Given the description of an element on the screen output the (x, y) to click on. 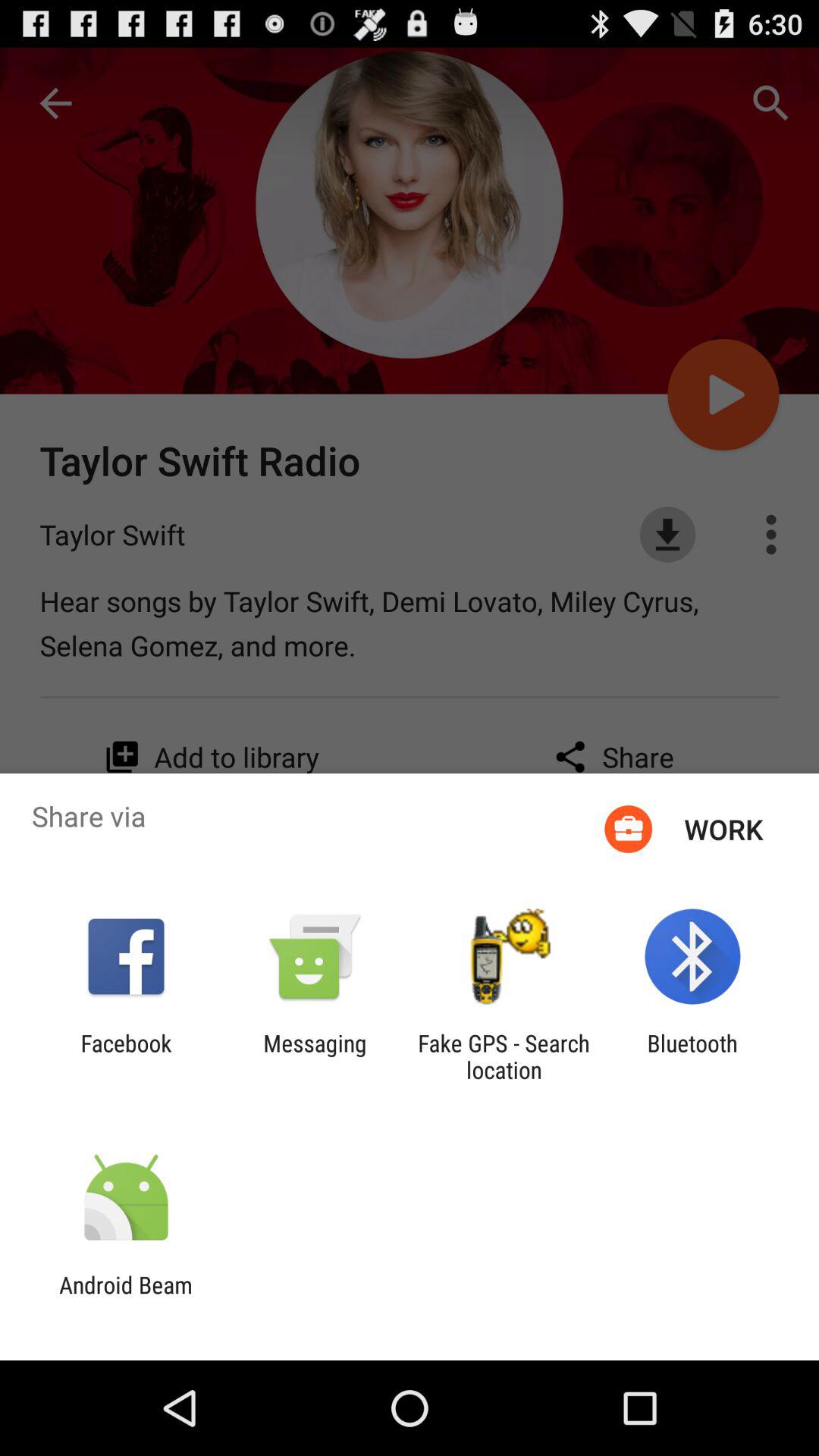
click the item to the right of the messaging app (503, 1056)
